Given the description of an element on the screen output the (x, y) to click on. 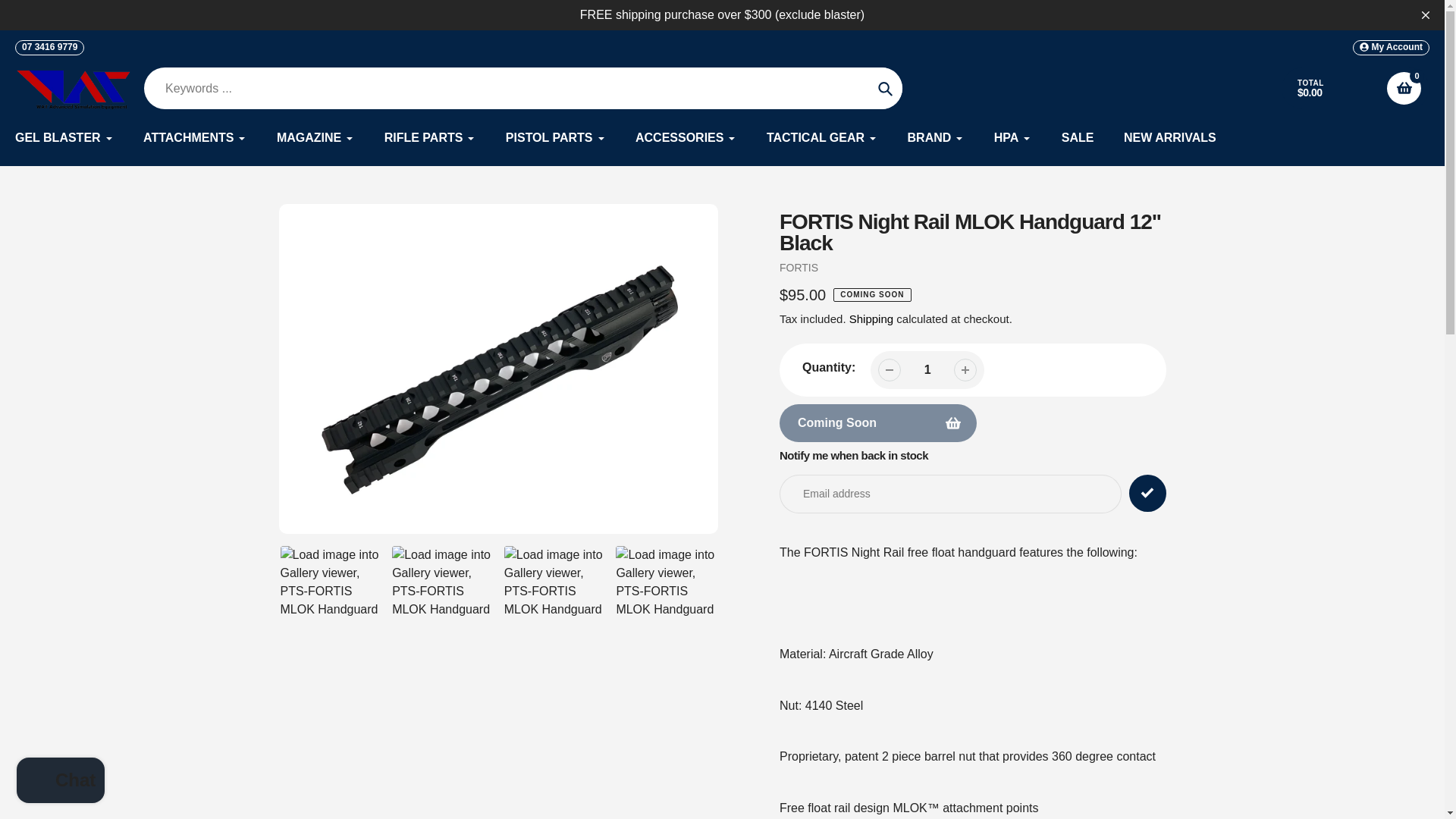
0 (1404, 88)
1 (927, 369)
Shopify online store chat (60, 781)
07 3416 9779 (49, 47)
FORTIS (798, 267)
ATTACHMENTS (194, 137)
My Account (1390, 47)
GEL BLASTER (63, 137)
